Given the description of an element on the screen output the (x, y) to click on. 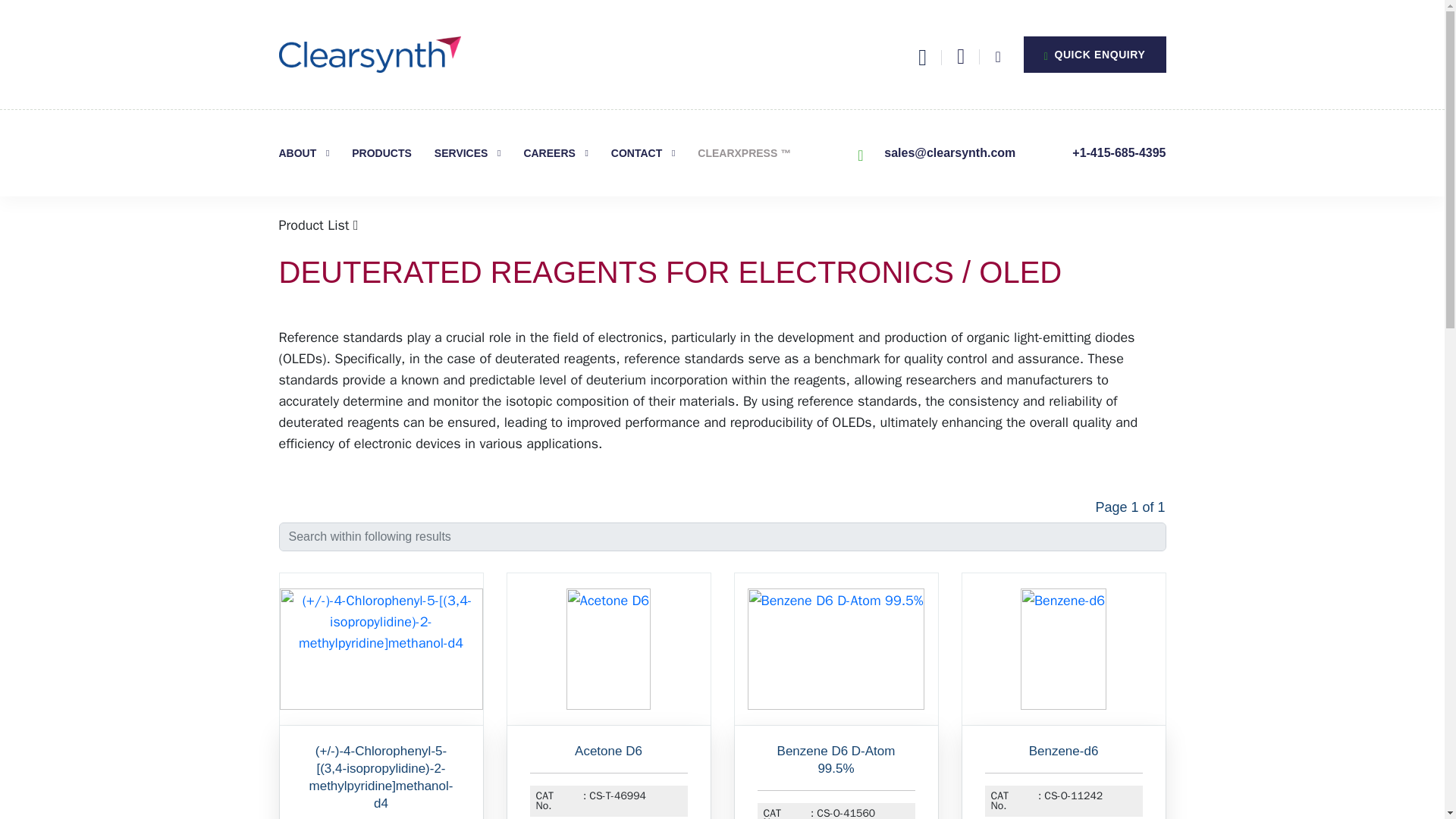
Acetone D6 (608, 751)
CONTACT (643, 153)
ABOUT (304, 153)
QUICK ENQUIRY (1094, 54)
SERVICES (466, 153)
PRODUCTS (382, 153)
CAREERS (555, 153)
Benzene-d6 (1062, 751)
